Given the description of an element on the screen output the (x, y) to click on. 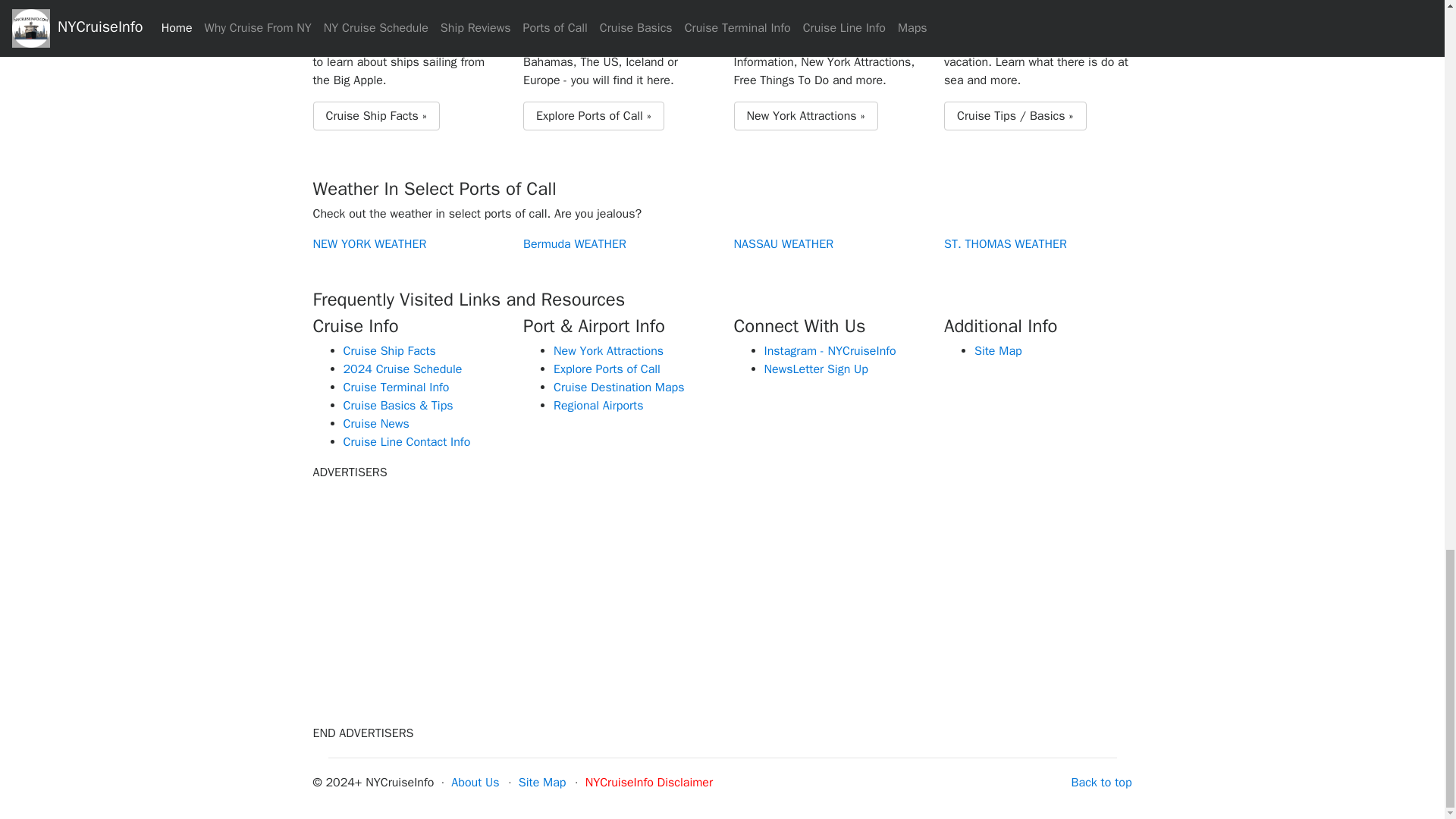
Advertisement (1002, 599)
Advertisement (441, 599)
Advertisement (721, 599)
